Given the description of an element on the screen output the (x, y) to click on. 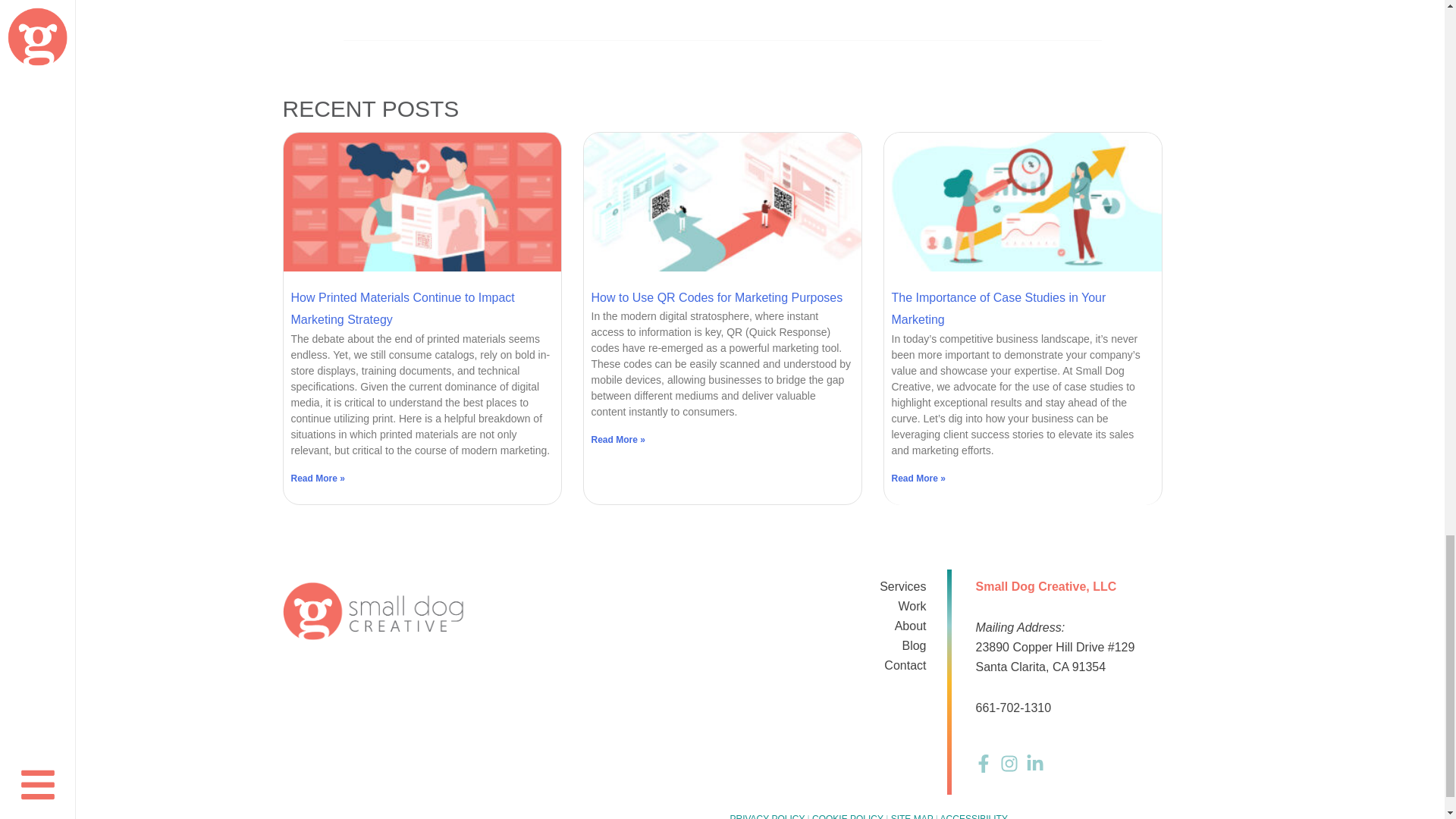
How Printed Materials Continue to Impact Marketing Strategy (403, 308)
PRIVACY POLICY (767, 816)
How to Use QR Codes for Marketing Purposes (717, 297)
About (827, 626)
The Importance of Case Studies in Your Marketing (998, 308)
Work (827, 606)
Blog (827, 646)
Services (827, 587)
Contact (827, 665)
